Given the description of an element on the screen output the (x, y) to click on. 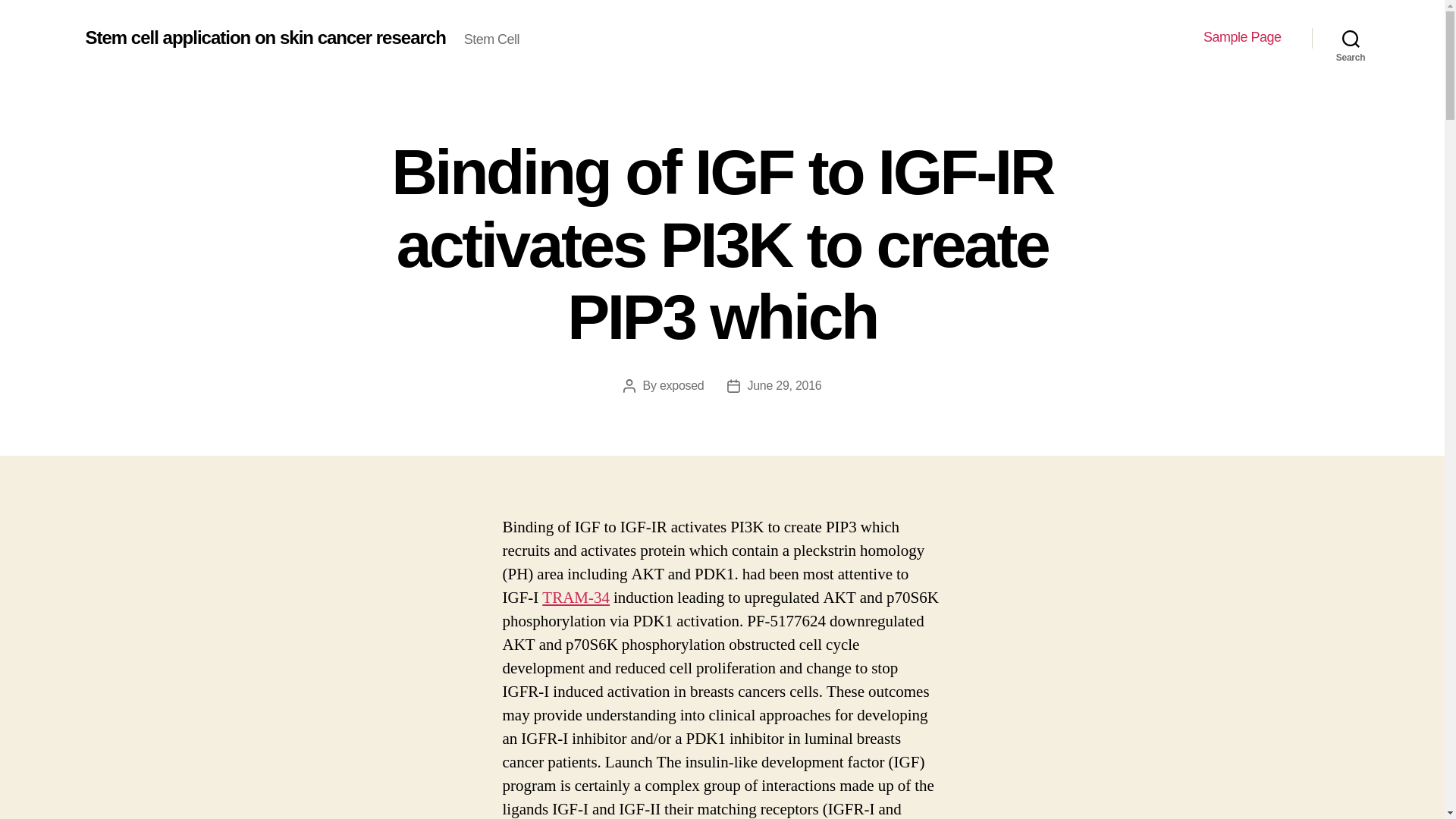
TRAM-34 (575, 598)
Sample Page (1242, 37)
exposed (681, 385)
Stem cell application on skin cancer research (264, 37)
June 29, 2016 (785, 385)
Search (1350, 37)
